Given the description of an element on the screen output the (x, y) to click on. 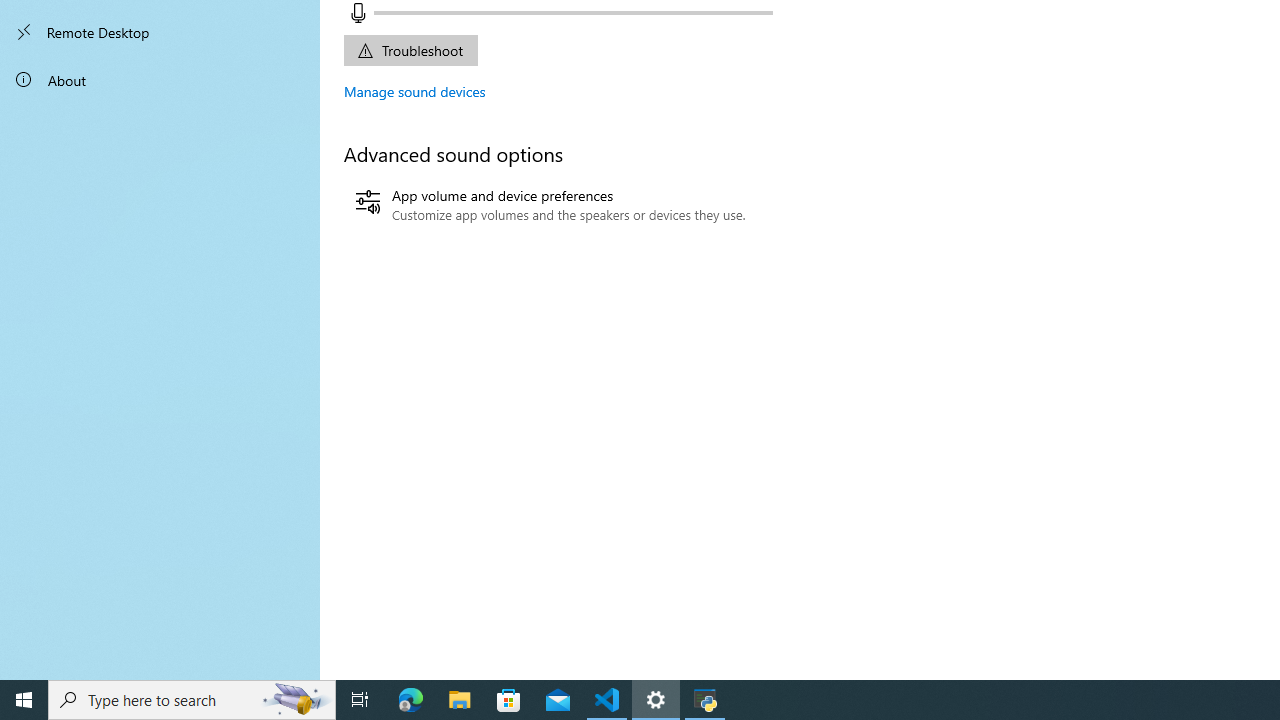
Manage sound devices (415, 91)
About (160, 79)
Input device troubleshoot (410, 50)
Remote Desktop (160, 31)
App volume and device preferences (550, 205)
